Given the description of an element on the screen output the (x, y) to click on. 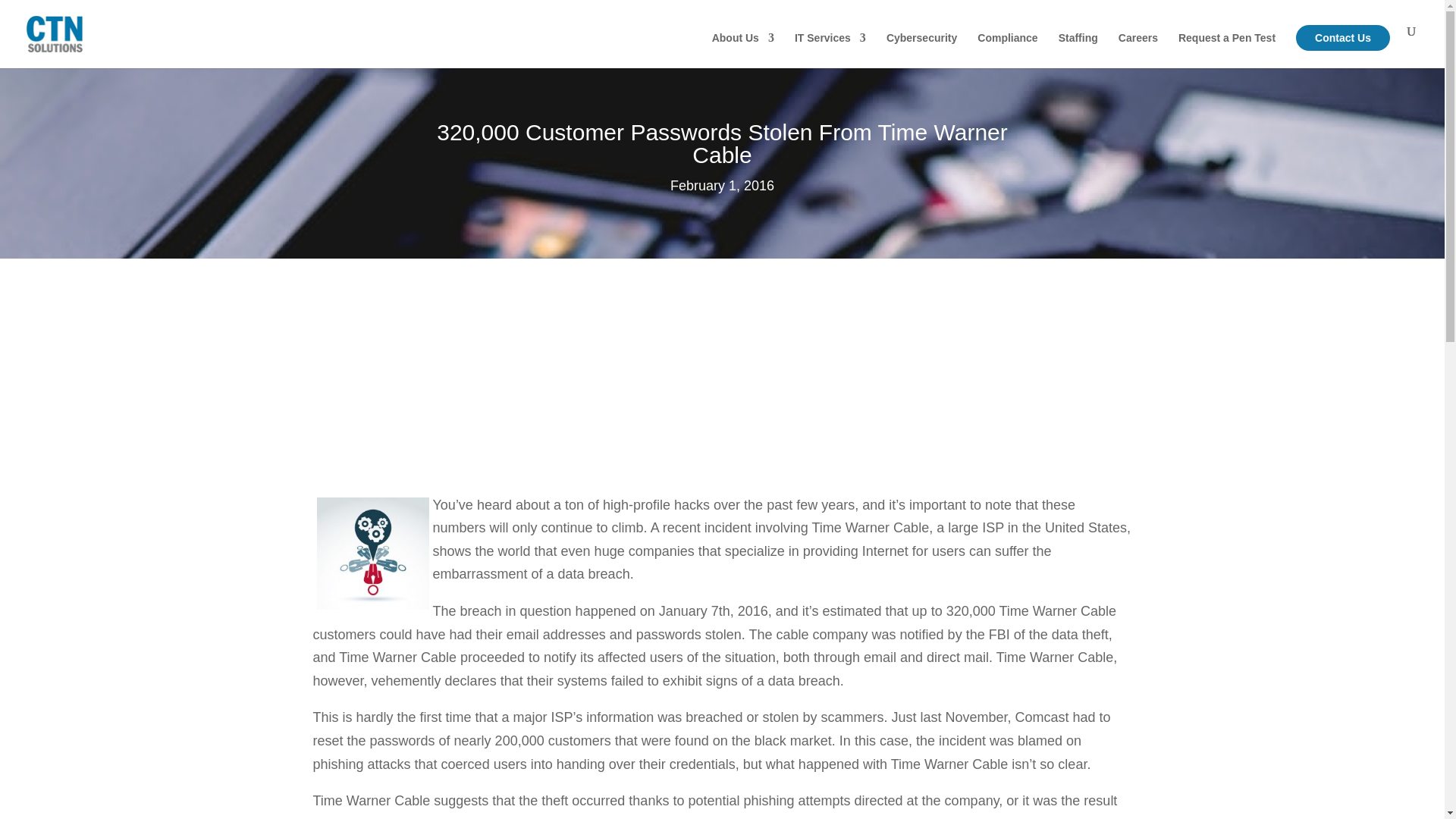
Staffing (1077, 49)
Cybersecurity (921, 49)
Careers (1137, 49)
About Us (742, 49)
IT Services (830, 49)
Request a Pen Test (1226, 49)
Compliance (1006, 49)
Contact Us (1342, 37)
